Given the description of an element on the screen output the (x, y) to click on. 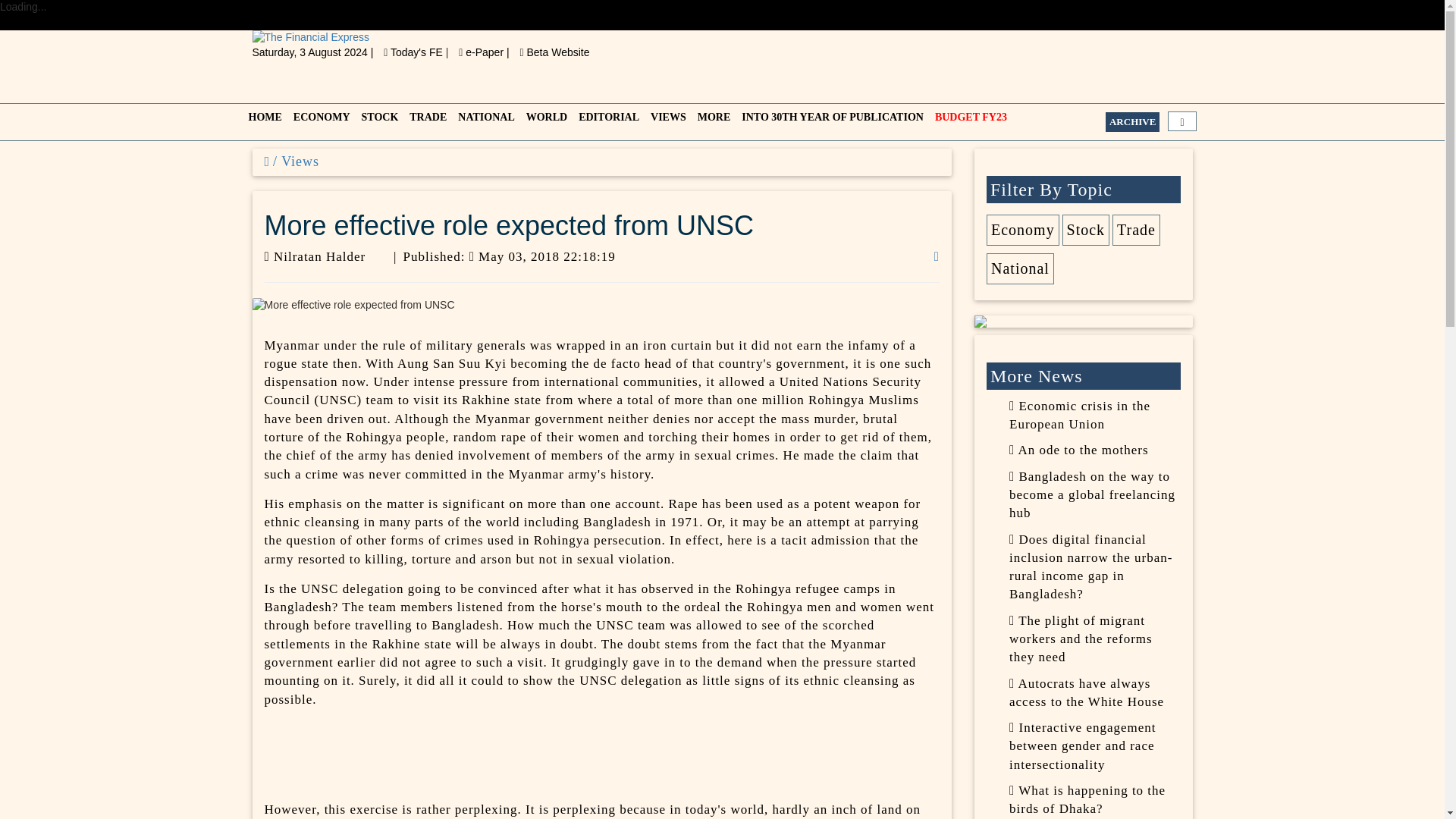
NATIONAL (483, 122)
HOME (263, 122)
WORLD (544, 122)
TRADE (425, 122)
ECONOMY (319, 122)
ARCHIVE (1131, 121)
VIEWS (666, 122)
EDITORIAL (606, 122)
Today's FE (414, 51)
MORE (712, 122)
